Given the description of an element on the screen output the (x, y) to click on. 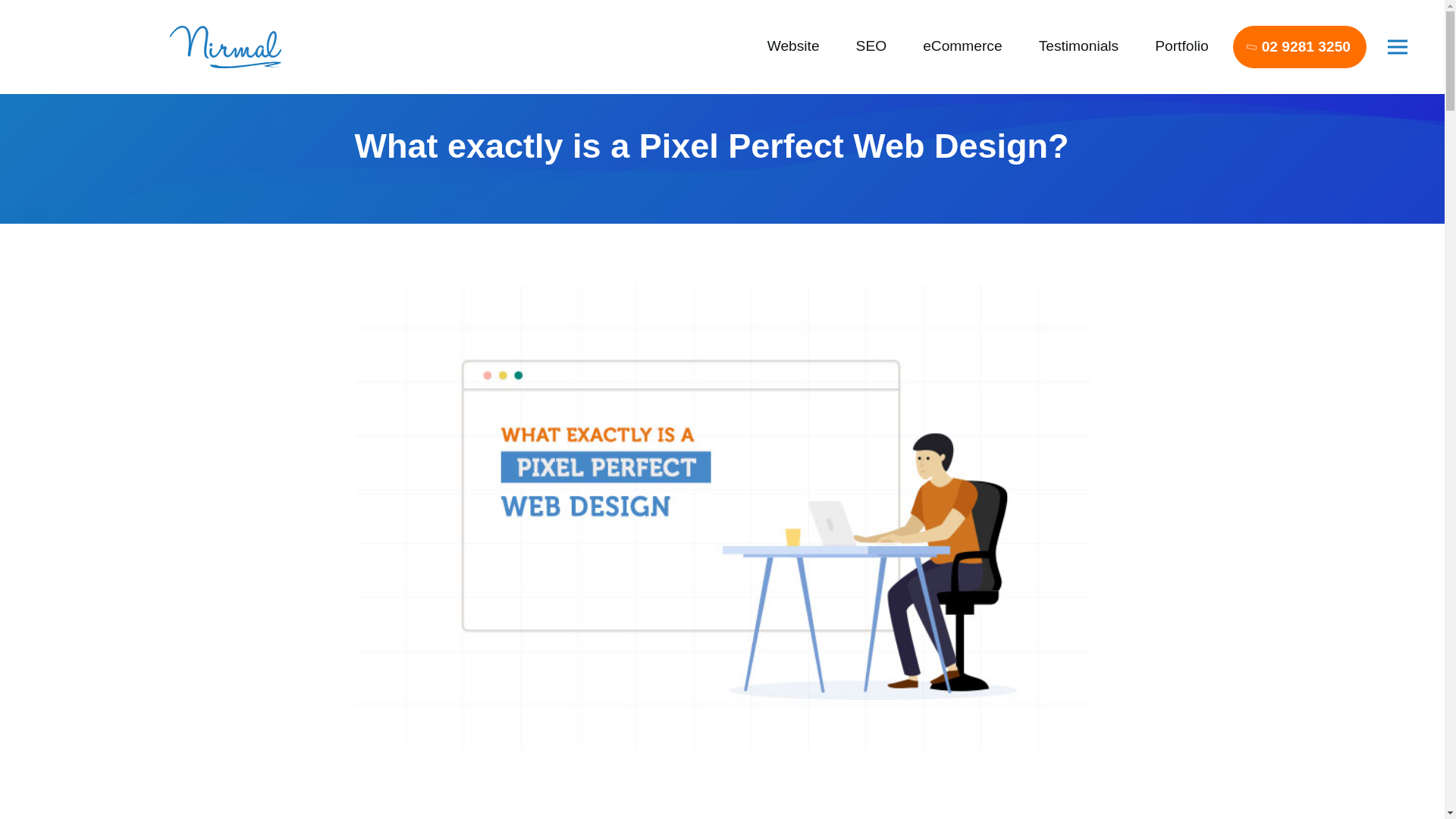
02 9281 3250 Element type: text (1299, 46)
eCommerce Element type: text (962, 45)
SEO Element type: text (871, 45)
Website Element type: text (793, 45)
Portfolio Element type: text (1181, 45)
Testimonials Element type: text (1078, 45)
